Given the description of an element on the screen output the (x, y) to click on. 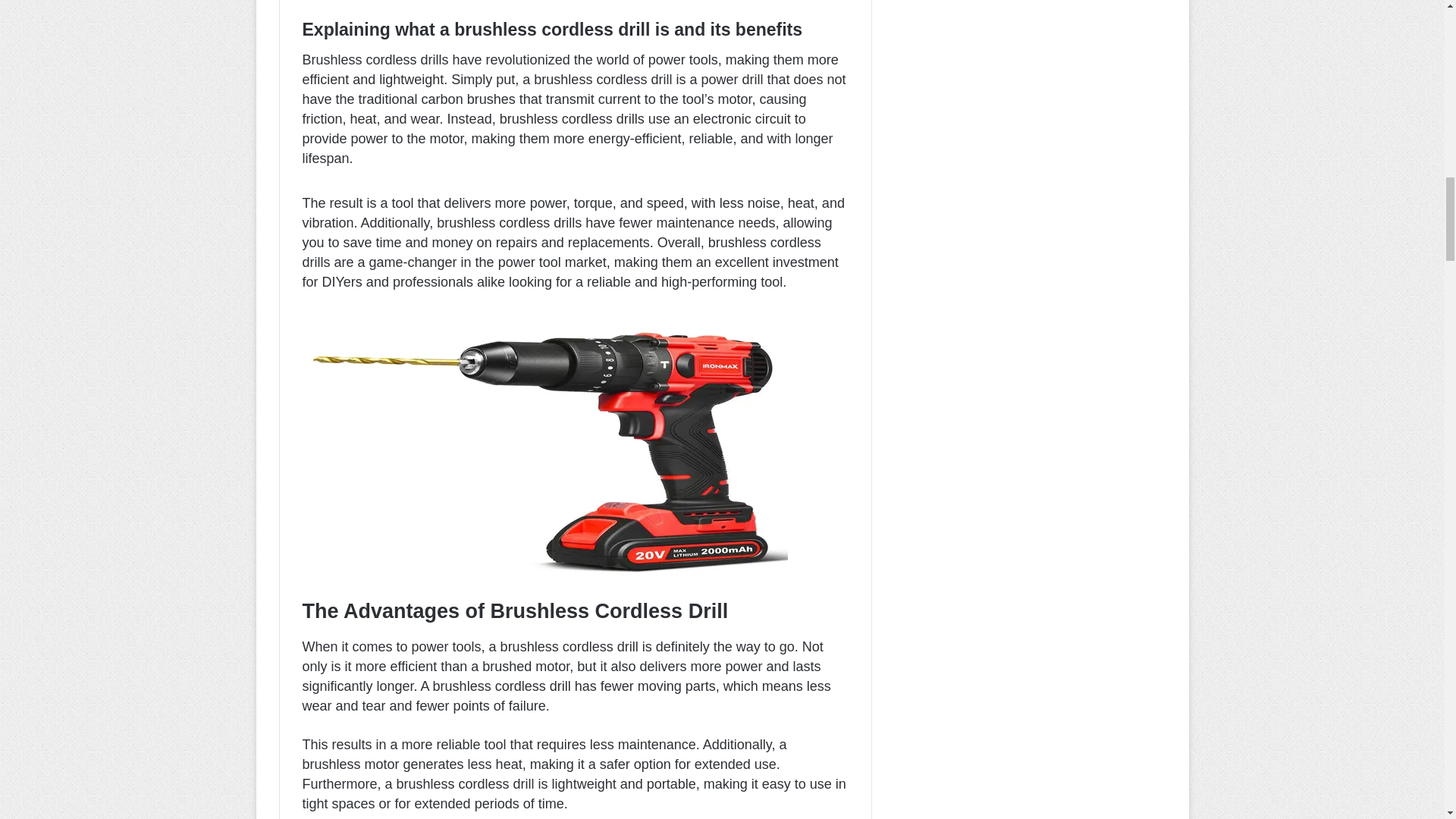
is brushless cordless drill better 1 (544, 447)
